Given the description of an element on the screen output the (x, y) to click on. 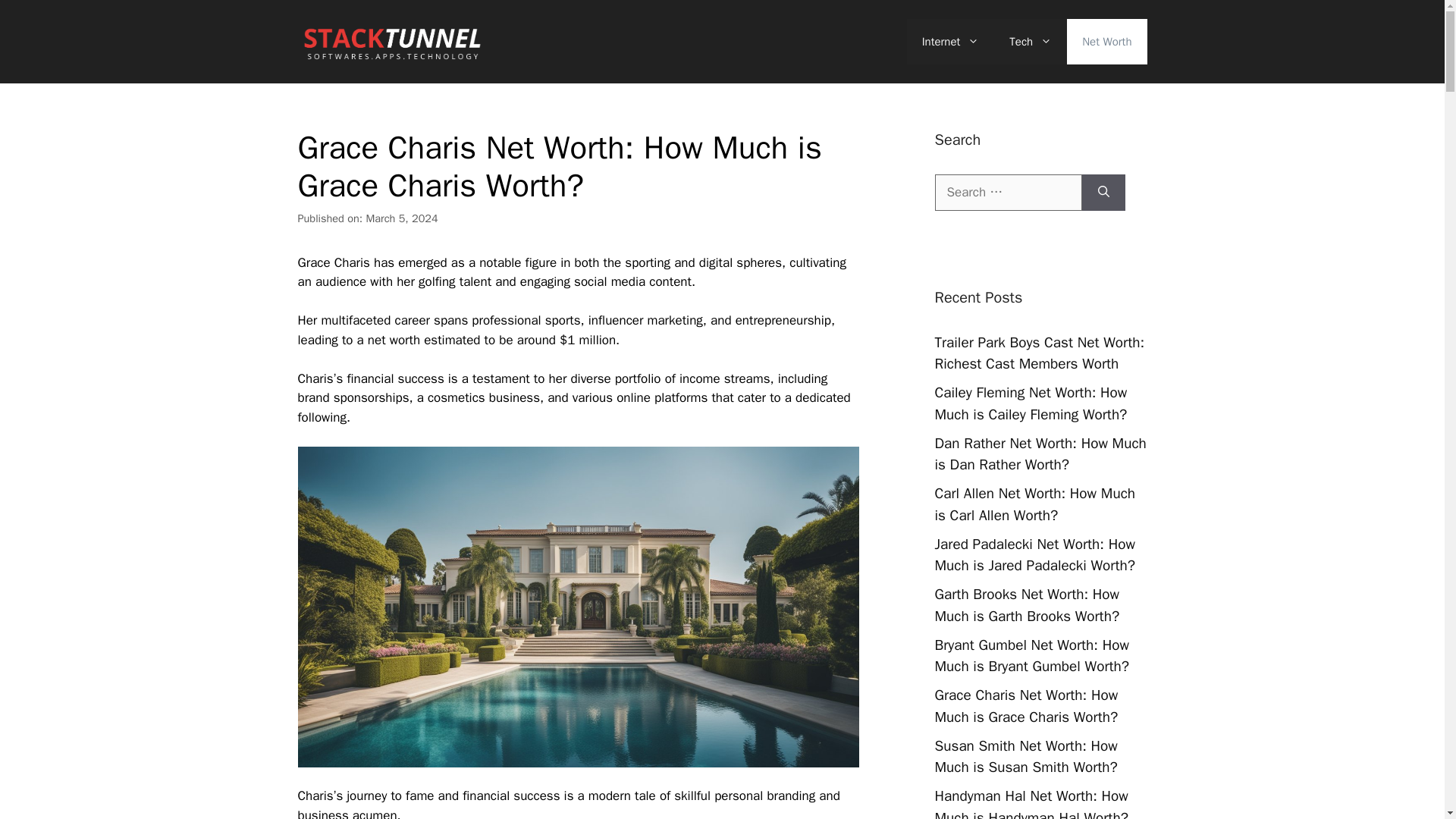
Search for: (1007, 192)
Carl Allen Net Worth: How Much is Carl Allen Worth? (1034, 504)
Cailey Fleming Net Worth: How Much is Cailey Fleming Worth? (1030, 404)
Internet (950, 41)
Trailer Park Boys Cast Net Worth: Richest Cast Members Worth (1039, 353)
Net Worth (1107, 41)
Bryant Gumbel Net Worth: How Much is Bryant Gumbel Worth? (1031, 655)
Susan Smith Net Worth: How Much is Susan Smith Worth? (1025, 757)
Garth Brooks Net Worth: How Much is Garth Brooks Worth? (1026, 605)
